Given the description of an element on the screen output the (x, y) to click on. 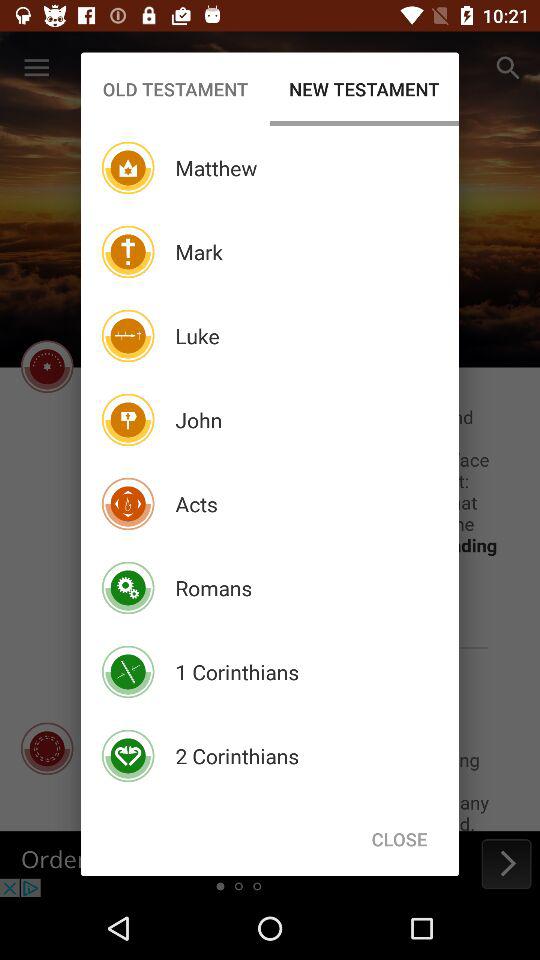
turn off icon below luke icon (198, 419)
